Given the description of an element on the screen output the (x, y) to click on. 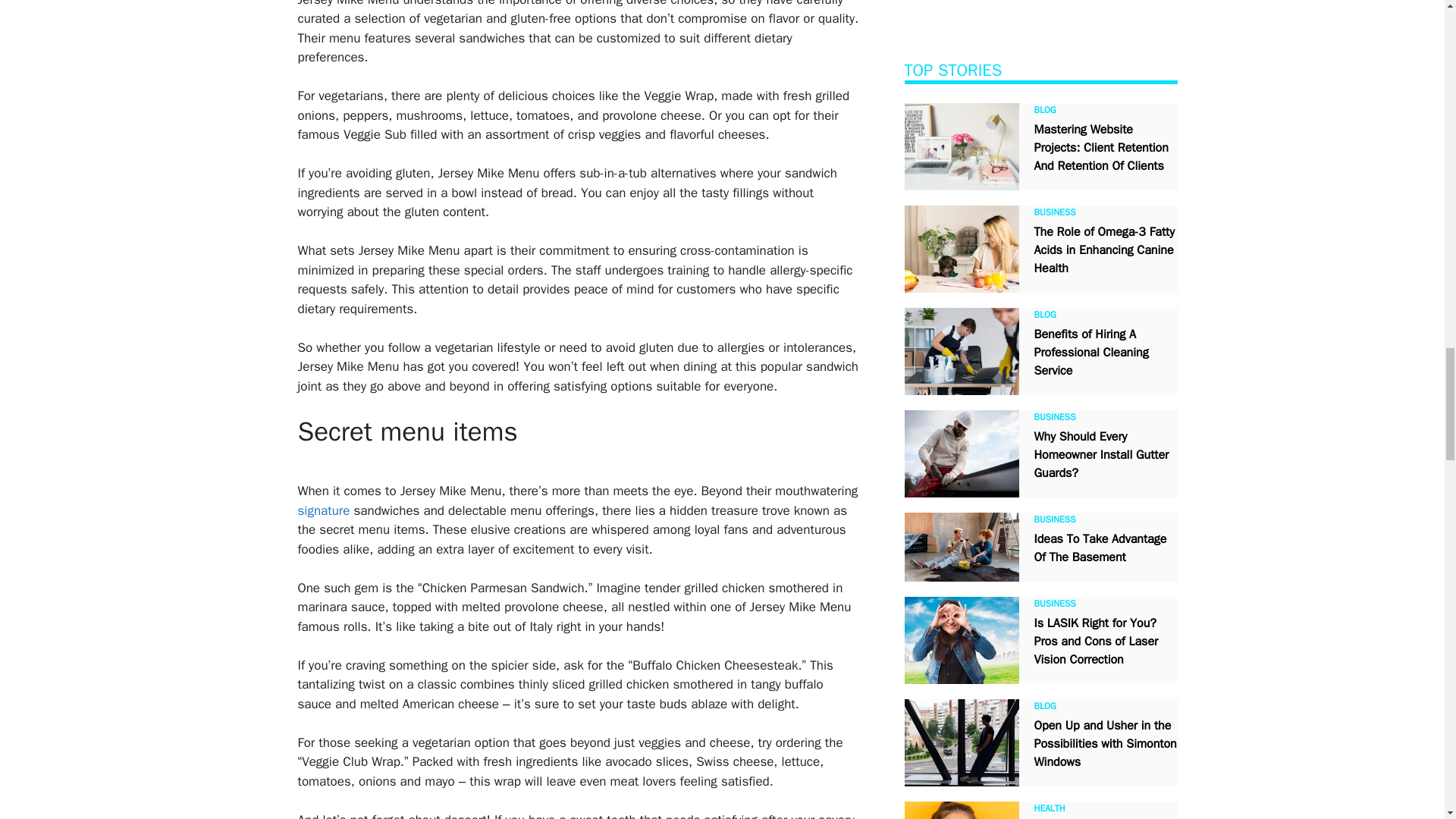
signature (323, 510)
